Given the description of an element on the screen output the (x, y) to click on. 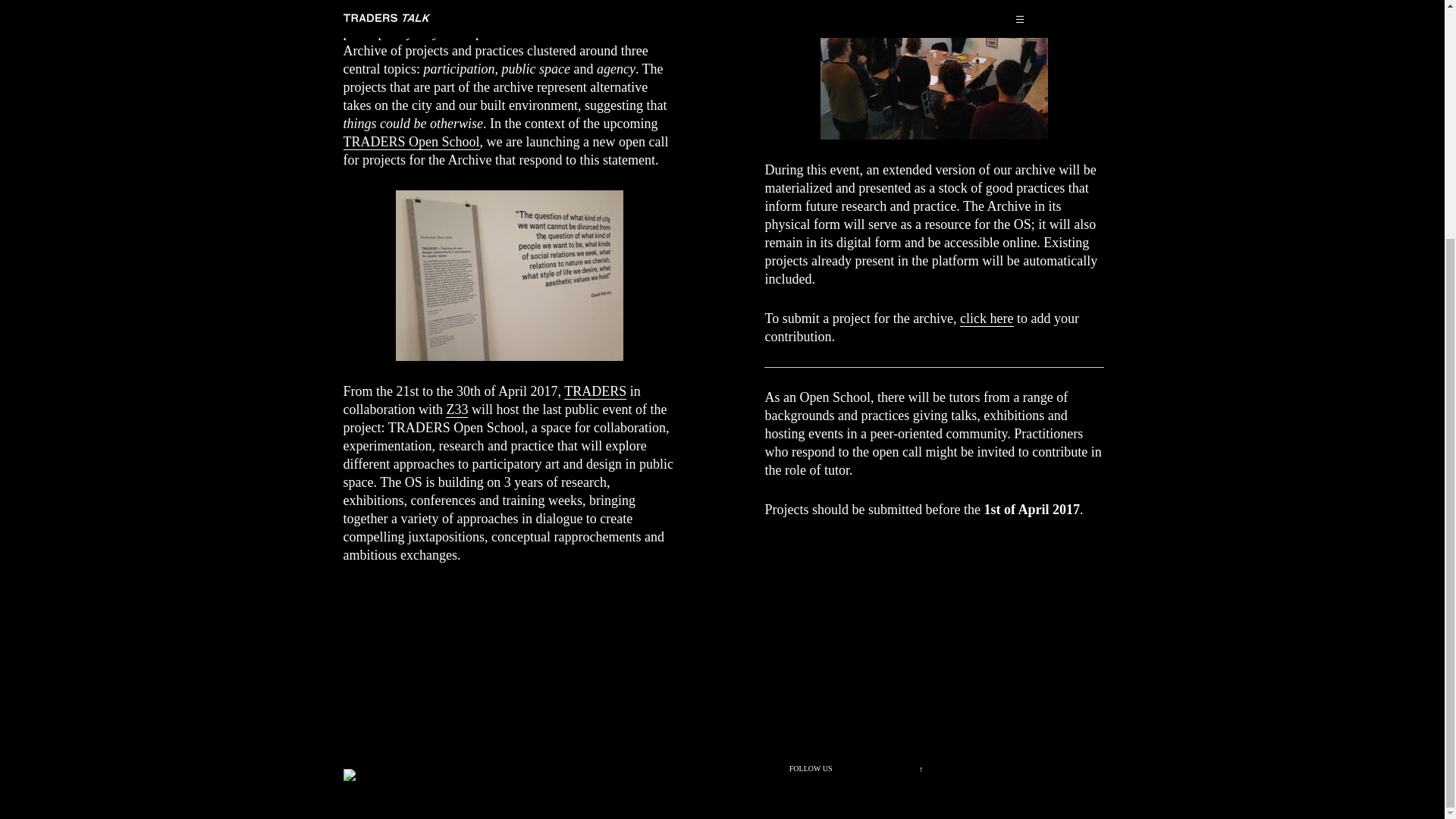
TRADERS Open School (410, 141)
Z33 (456, 409)
click here (986, 318)
TRADERS (595, 391)
